Given the description of an element on the screen output the (x, y) to click on. 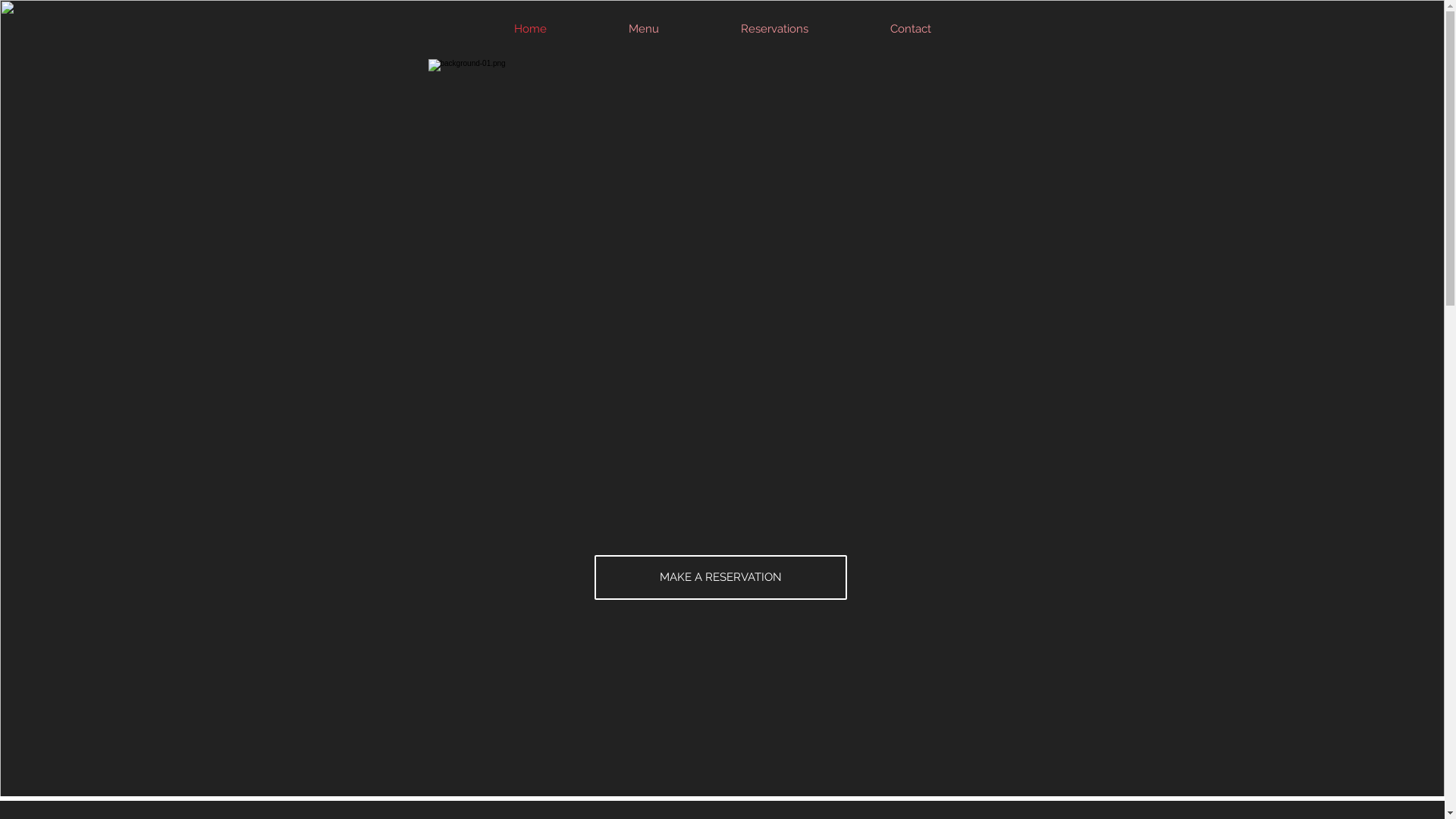
Contact Element type: text (910, 28)
Reservations Element type: text (774, 28)
MAKE A RESERVATION Element type: text (720, 577)
Menu Element type: text (643, 28)
Home Element type: text (529, 28)
